Given the description of an element on the screen output the (x, y) to click on. 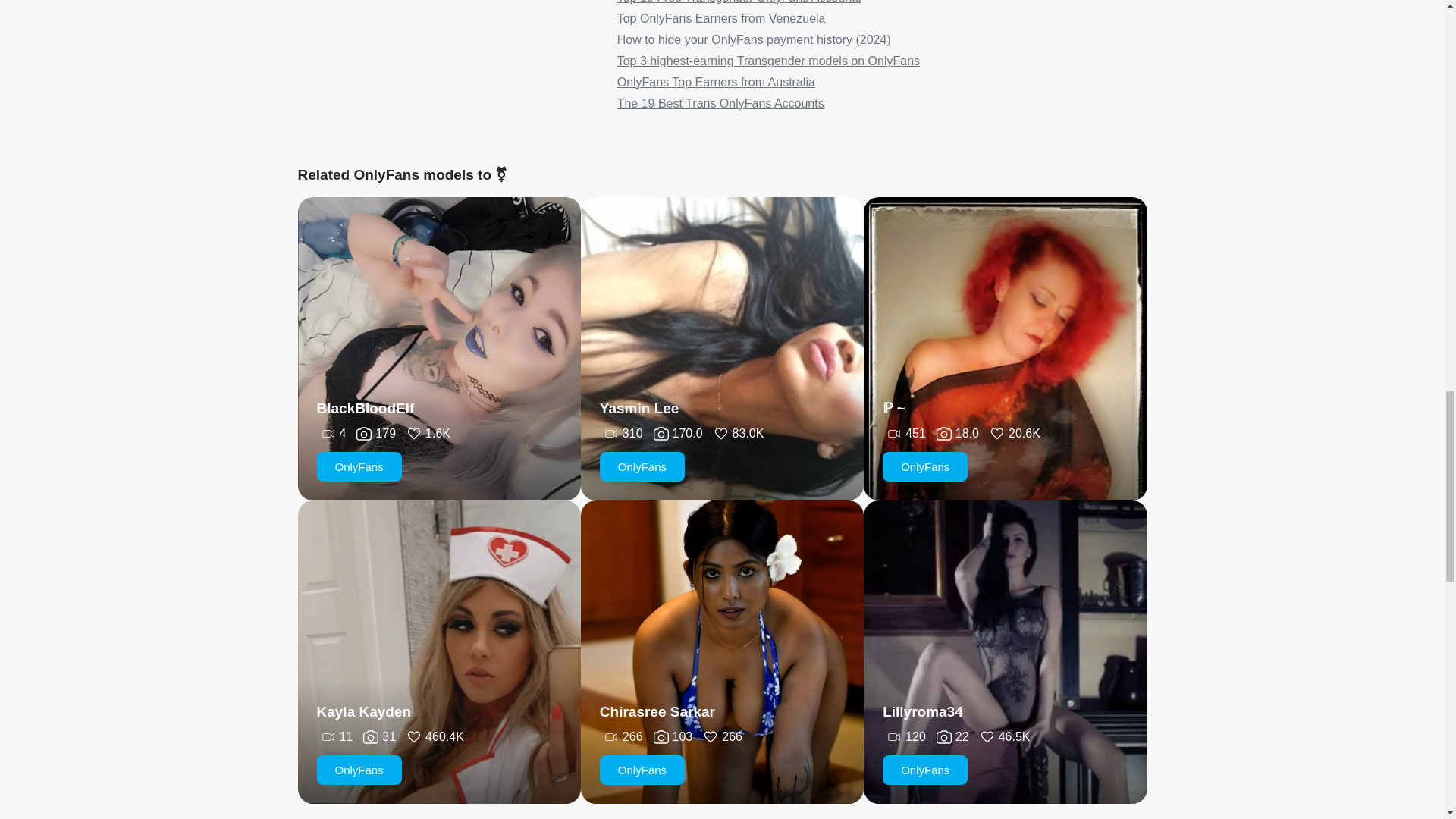
Kayla Kayden (364, 711)
OnlyFans (925, 466)
Top 10 Free Transgender OnlyFans Accounts (739, 2)
The 19 Best Trans OnlyFans Accounts (720, 103)
OnlyFans Top Earners from Australia (716, 82)
OnlyFans (359, 466)
Top 3 highest-earning Transgender models on OnlyFans (768, 60)
OnlyFans (925, 769)
OnlyFans (359, 769)
Yasmin Lee (639, 408)
OnlyFans (641, 466)
Lillyroma34 (922, 711)
Top OnlyFans Earners from Venezuela (721, 18)
OnlyFans (641, 769)
Chirasree Sarkar (656, 711)
